Given the description of an element on the screen output the (x, y) to click on. 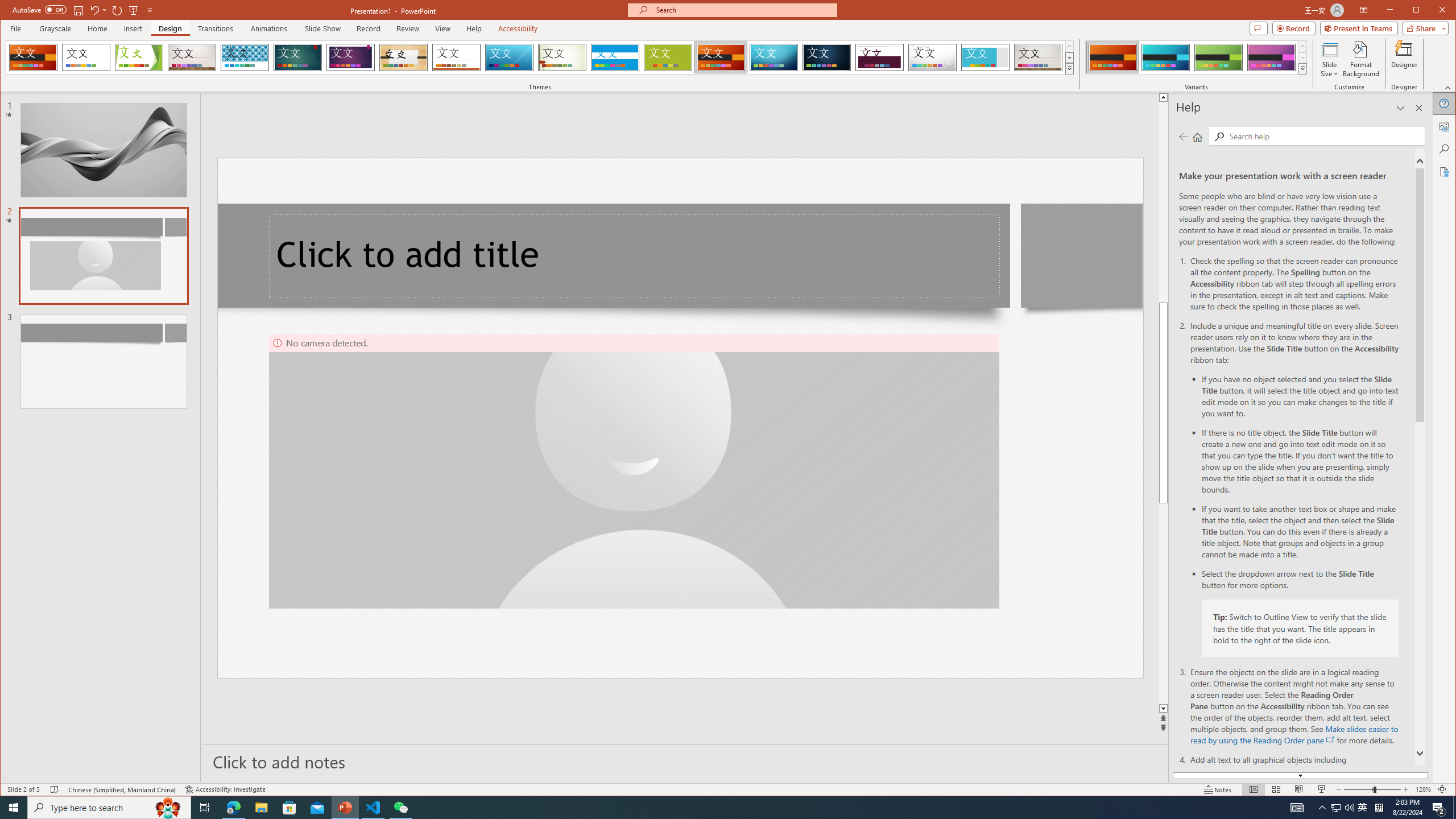
Zoom 128% (1422, 789)
Damask (826, 57)
Berlin Variant 3 (1218, 57)
Wisp (561, 57)
